Given the description of an element on the screen output the (x, y) to click on. 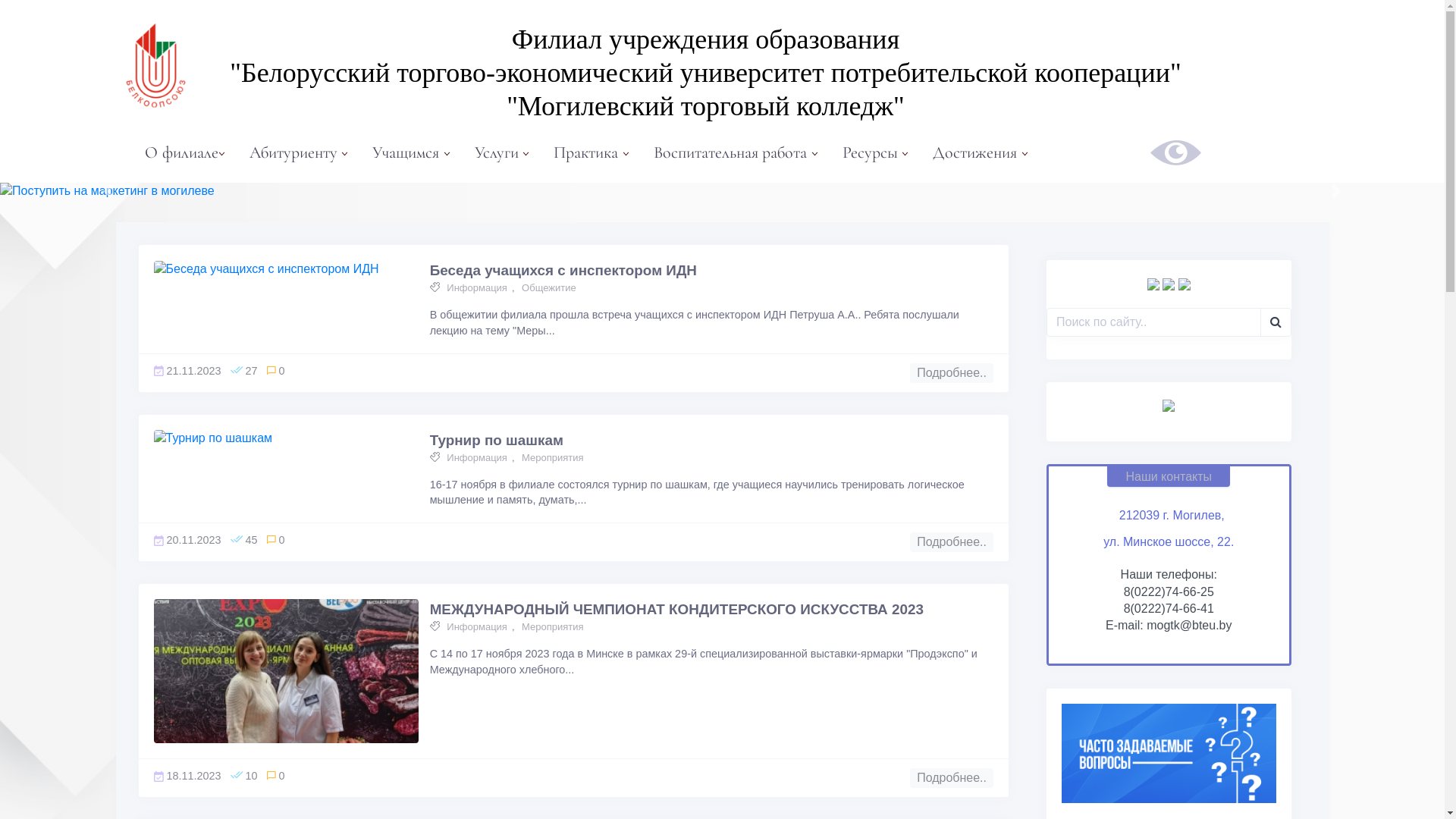
Previous Element type: text (108, 190)
Next Element type: text (1335, 190)
